Given the description of an element on the screen output the (x, y) to click on. 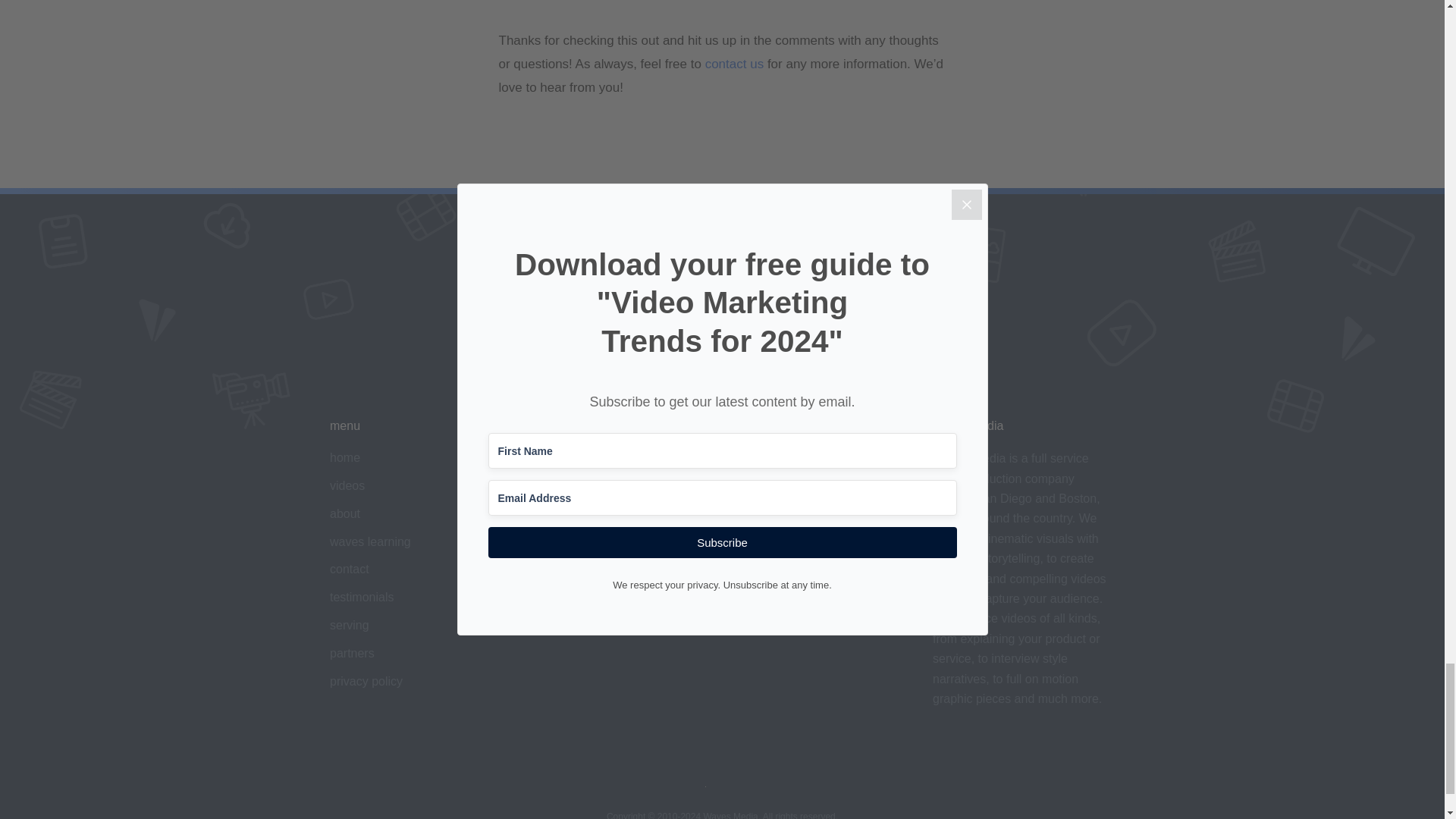
instagram (557, 513)
contact (349, 568)
about (344, 513)
partners (352, 653)
waves learning (370, 541)
youtube (552, 485)
privacy policy (366, 680)
contact us (734, 63)
facebook (555, 541)
"Stuck in Traffic?" BHSF Can Help (722, 4)
testimonials (361, 596)
videos (347, 485)
home (344, 457)
serving (349, 625)
vimeo (547, 457)
